Given the description of an element on the screen output the (x, y) to click on. 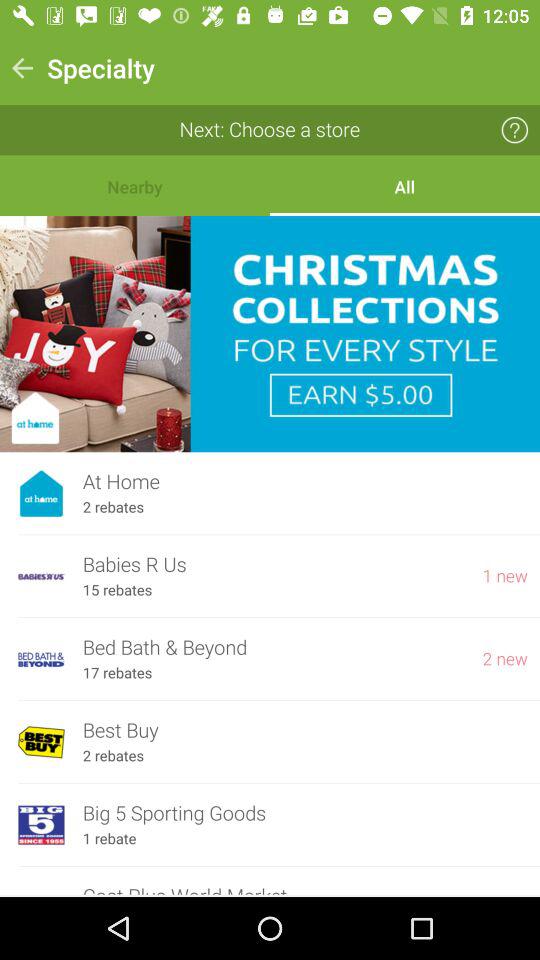
tap icon below bed bath & beyond item (117, 673)
